Given the description of an element on the screen output the (x, y) to click on. 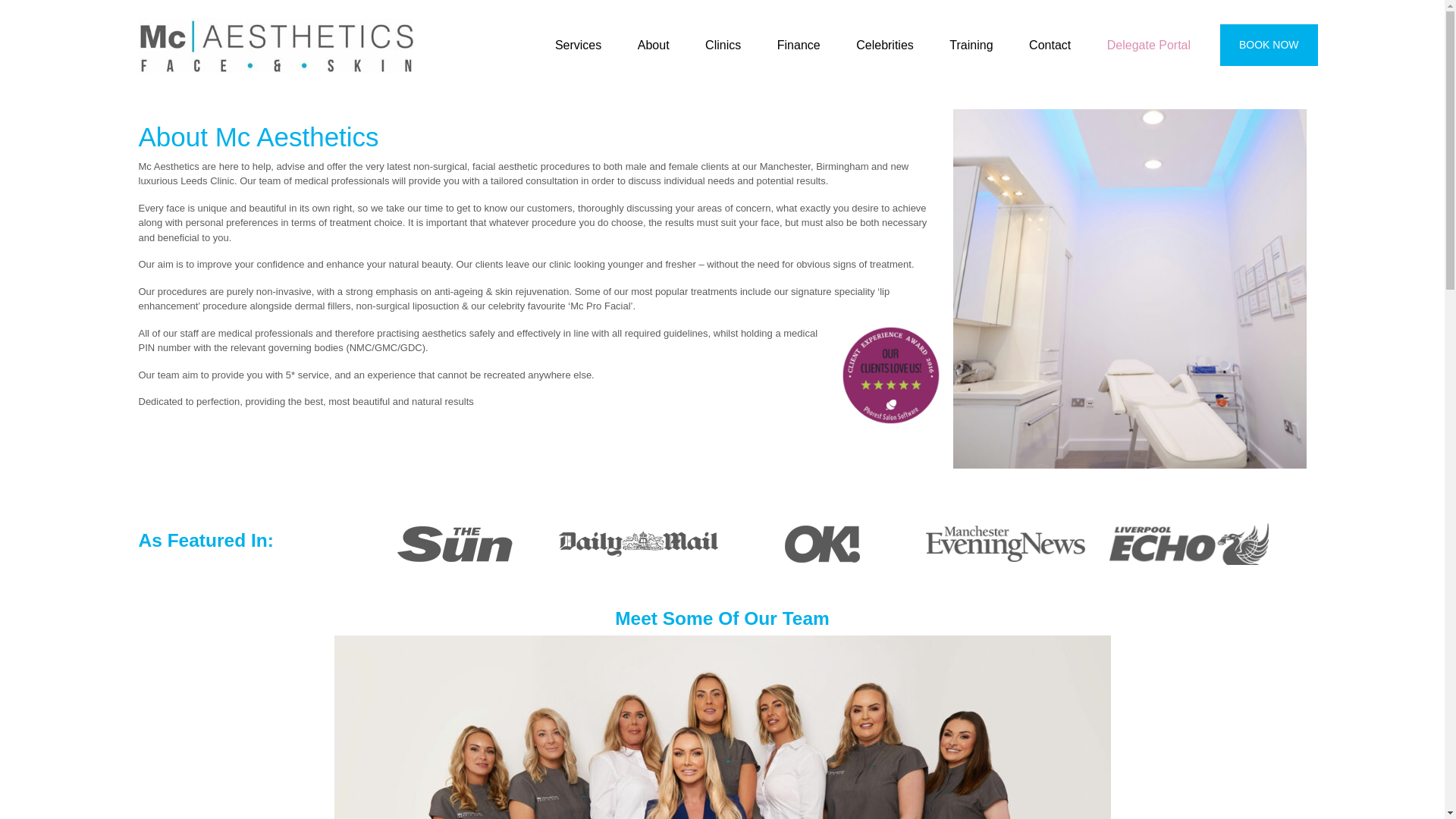
Finance (799, 45)
Services (577, 45)
Celebrities (885, 45)
Delegate Portal (1148, 45)
Contact (1049, 45)
Training (970, 45)
BOOK NOW (1268, 45)
